Given the description of an element on the screen output the (x, y) to click on. 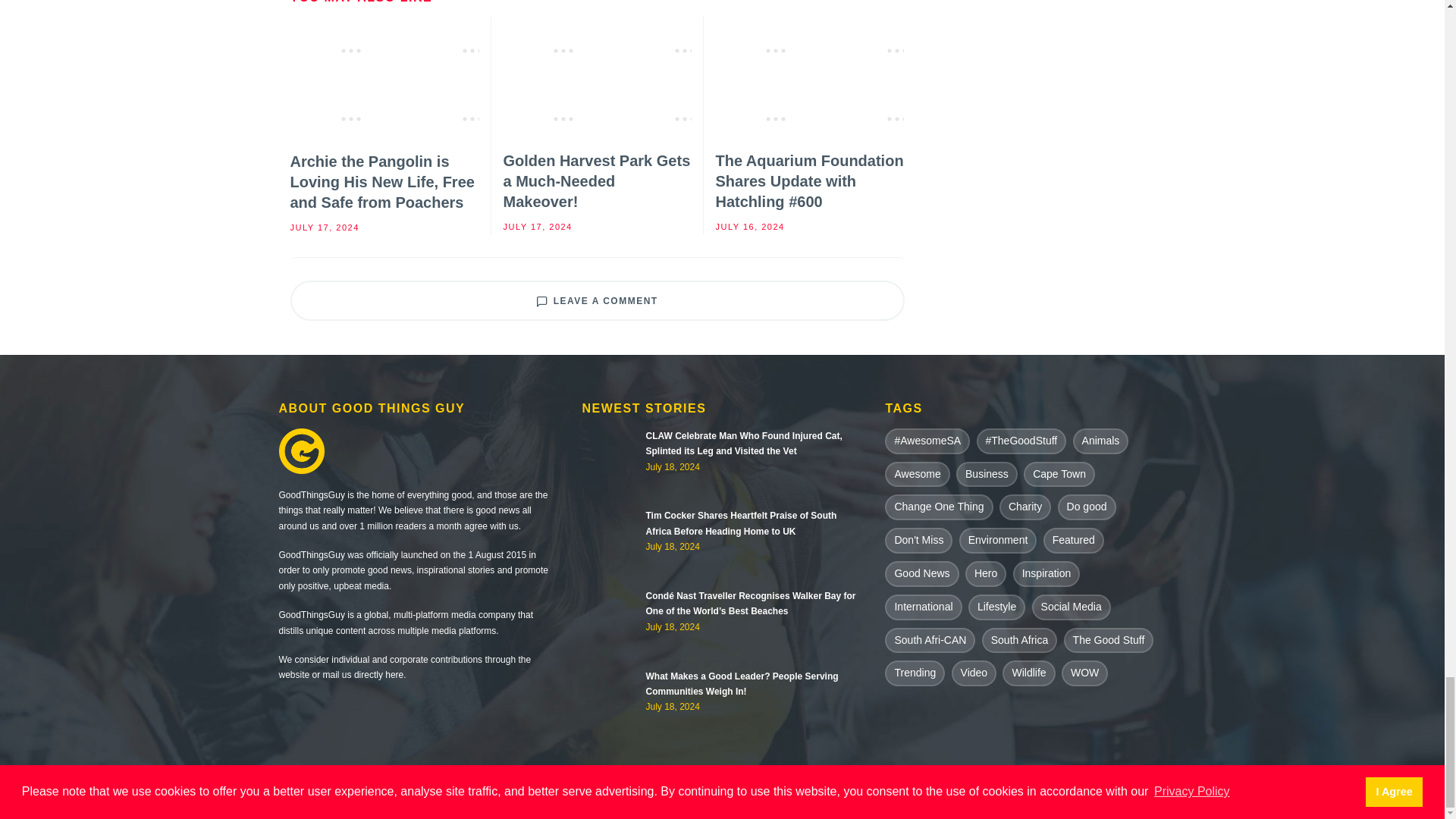
Good Things Guy -  (691, 798)
